Given the description of an element on the screen output the (x, y) to click on. 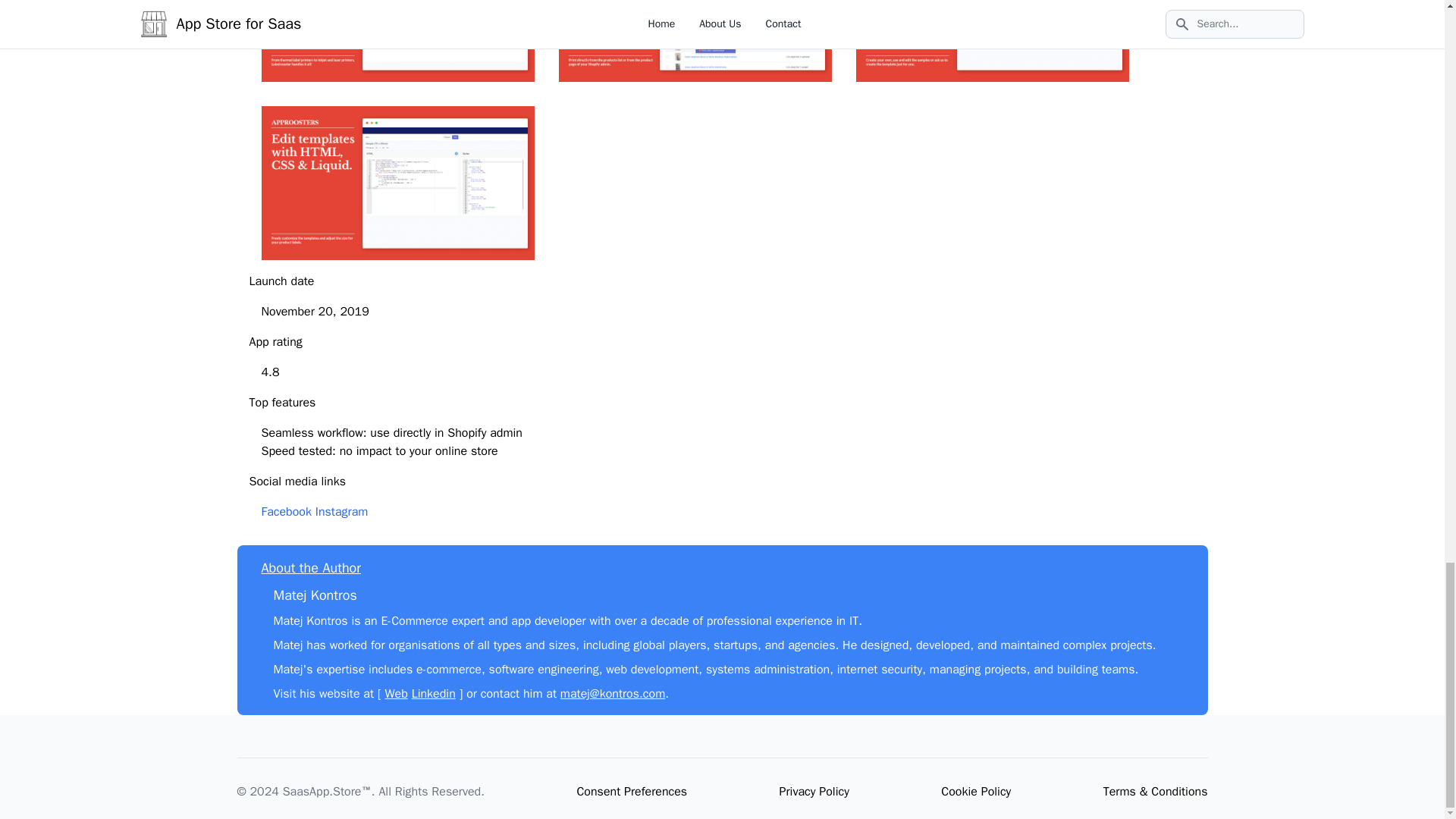
Cookie Policy (975, 791)
Consent Preferences (631, 791)
Web (395, 693)
Instagram (341, 511)
Matej Kontros (314, 595)
Linkedin (433, 693)
Privacy Policy (813, 791)
Facebook (285, 511)
